Given the description of an element on the screen output the (x, y) to click on. 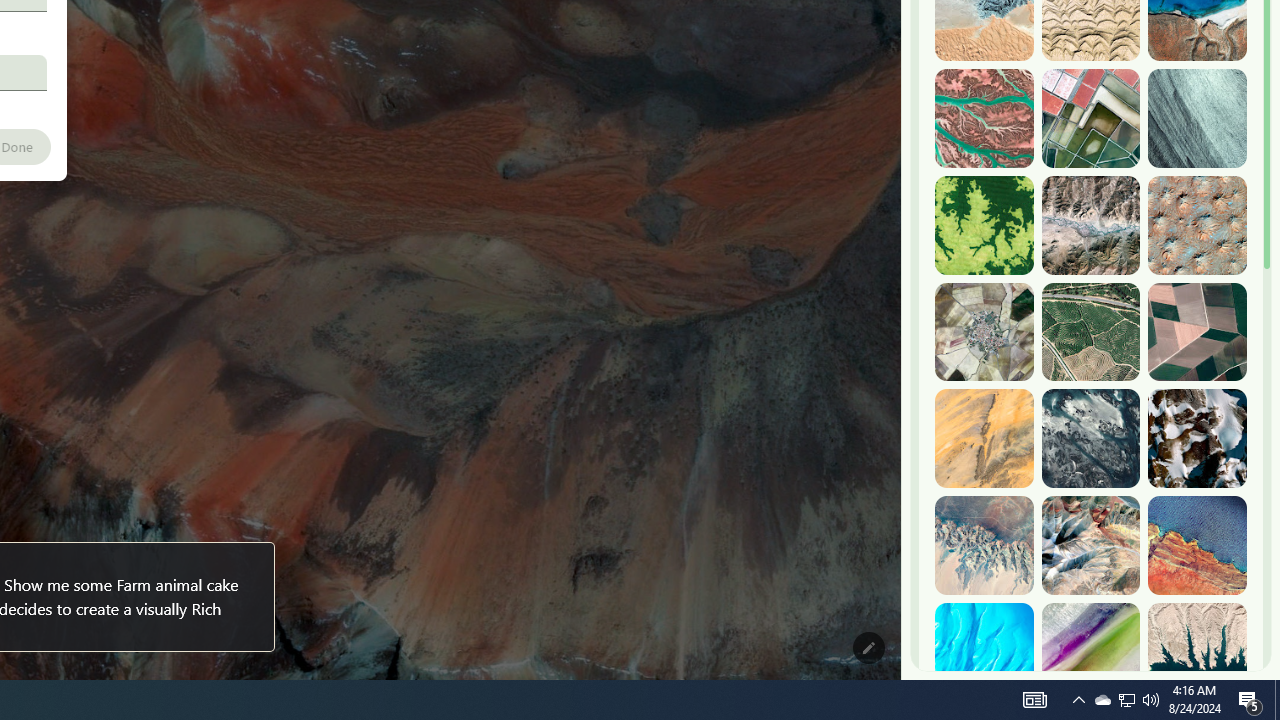
Side Panel Resize Handle (905, 39)
Hainan, China (1197, 651)
Isla Cristina, Spain (1090, 332)
Ouargla, Algeria (1197, 225)
Davis County, United States (1090, 651)
